Given the description of an element on the screen output the (x, y) to click on. 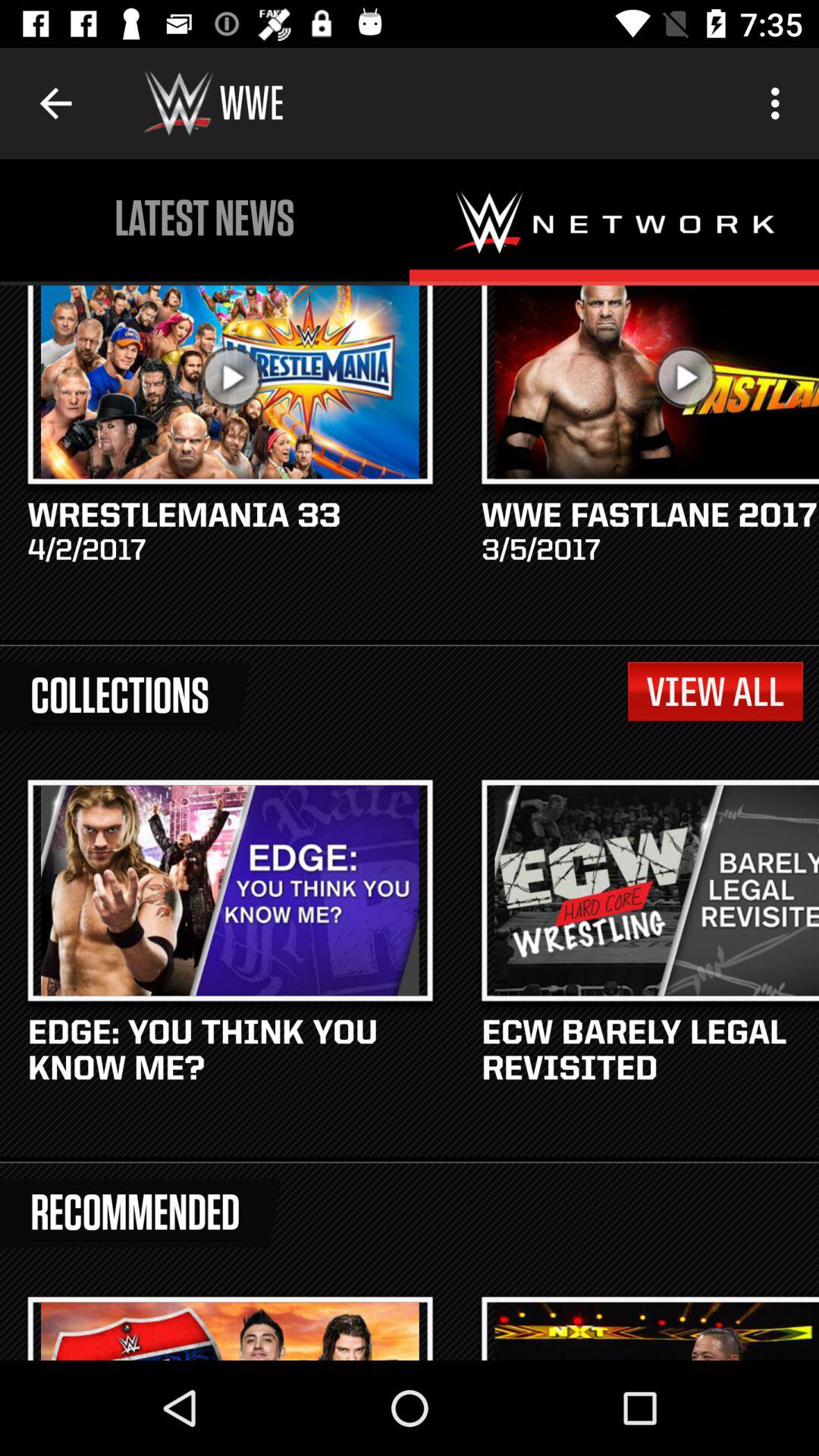
open icon next to the collections (715, 691)
